Given the description of an element on the screen output the (x, y) to click on. 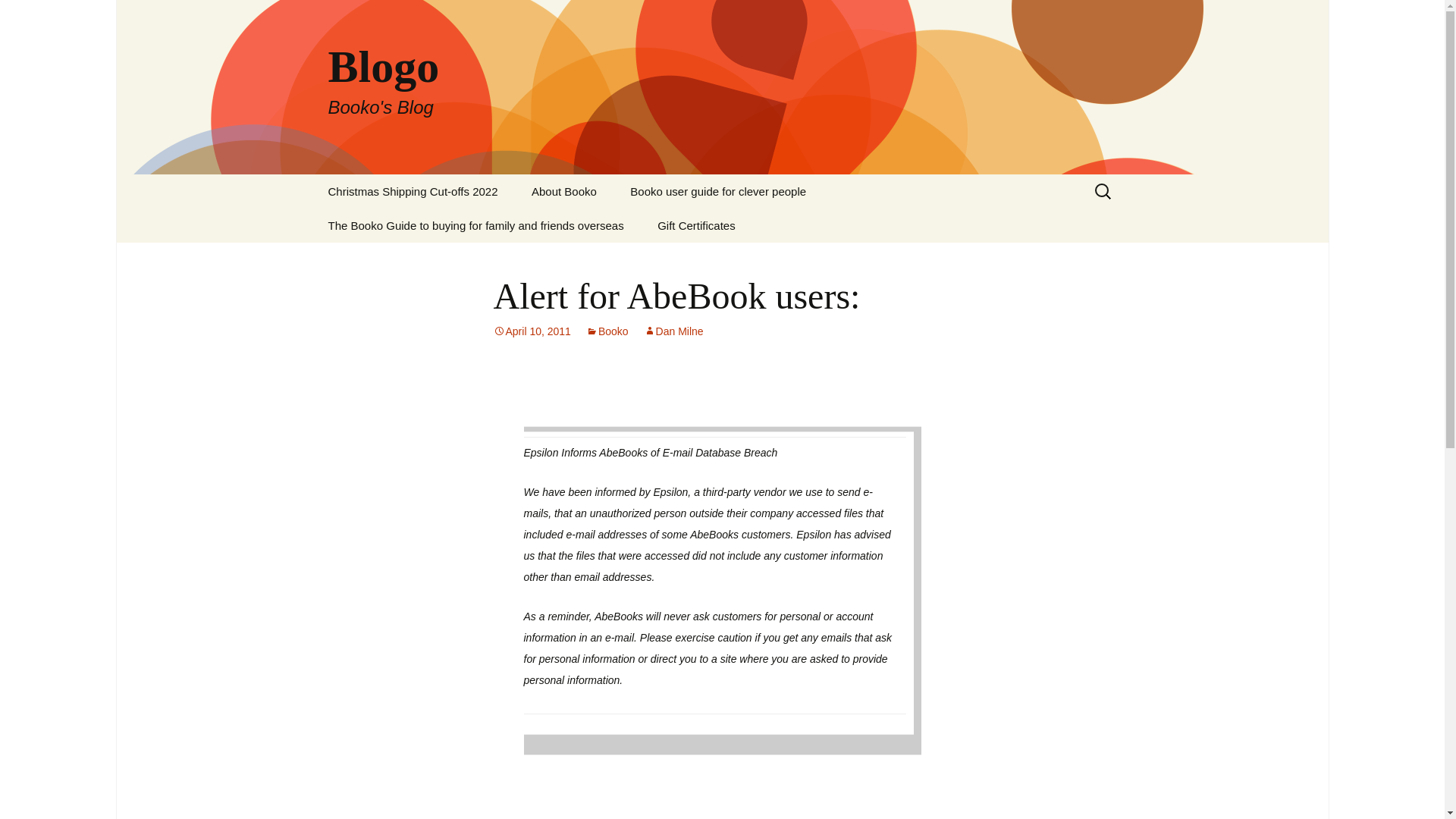
View all posts by Dan Milne (673, 331)
Booko user guide for clever people (717, 191)
Gift Certificates (696, 225)
The Booko Guide to buying for family and friends overseas (476, 225)
About Booko (531, 331)
Search (563, 191)
Christmas Shipping Cut-offs 2022 (34, 15)
Booko (412, 191)
Skip to content (607, 331)
Search (531, 331)
Dan Milne (18, 15)
